Given the description of an element on the screen output the (x, y) to click on. 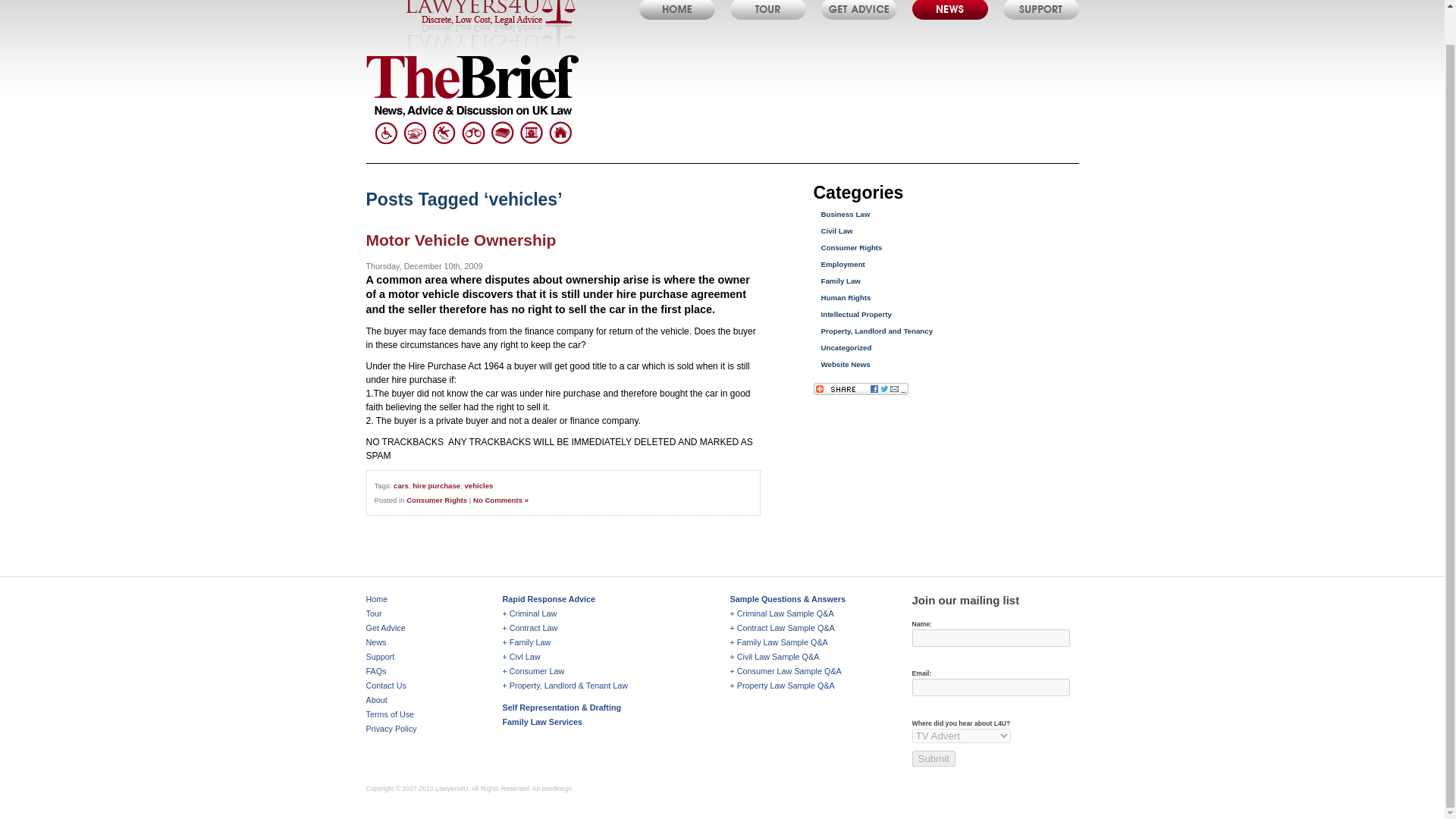
Consumer Rights (851, 247)
Lawyers4U Home (676, 9)
Get Advice (384, 627)
hire purchase (436, 485)
Contact Us (385, 685)
Property, Landlord and Tenancy (877, 330)
Uncategorized (845, 347)
Civil Law (836, 230)
Tour (373, 613)
support (1040, 9)
